Given the description of an element on the screen output the (x, y) to click on. 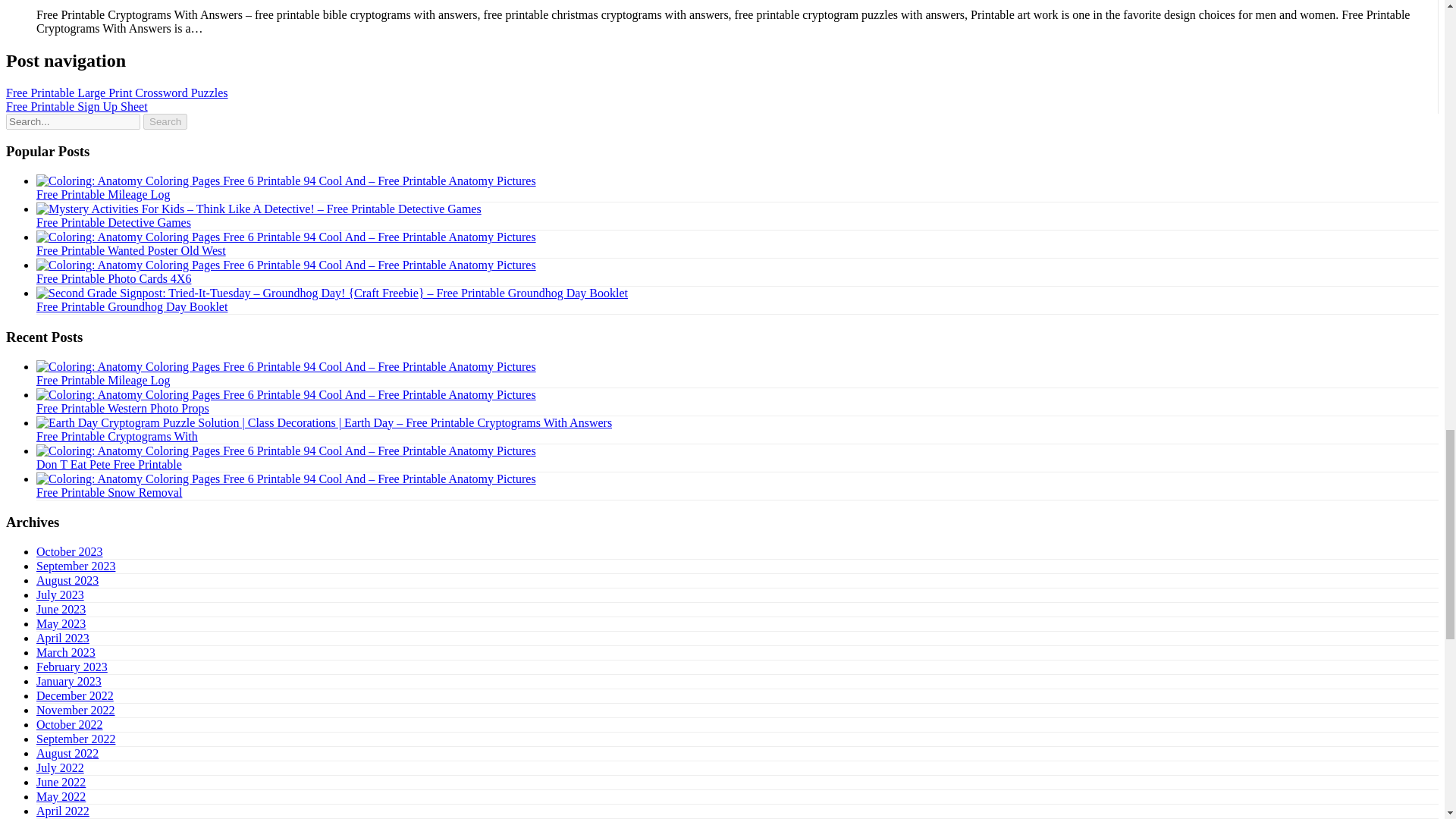
Search (164, 121)
Search (164, 121)
